Given the description of an element on the screen output the (x, y) to click on. 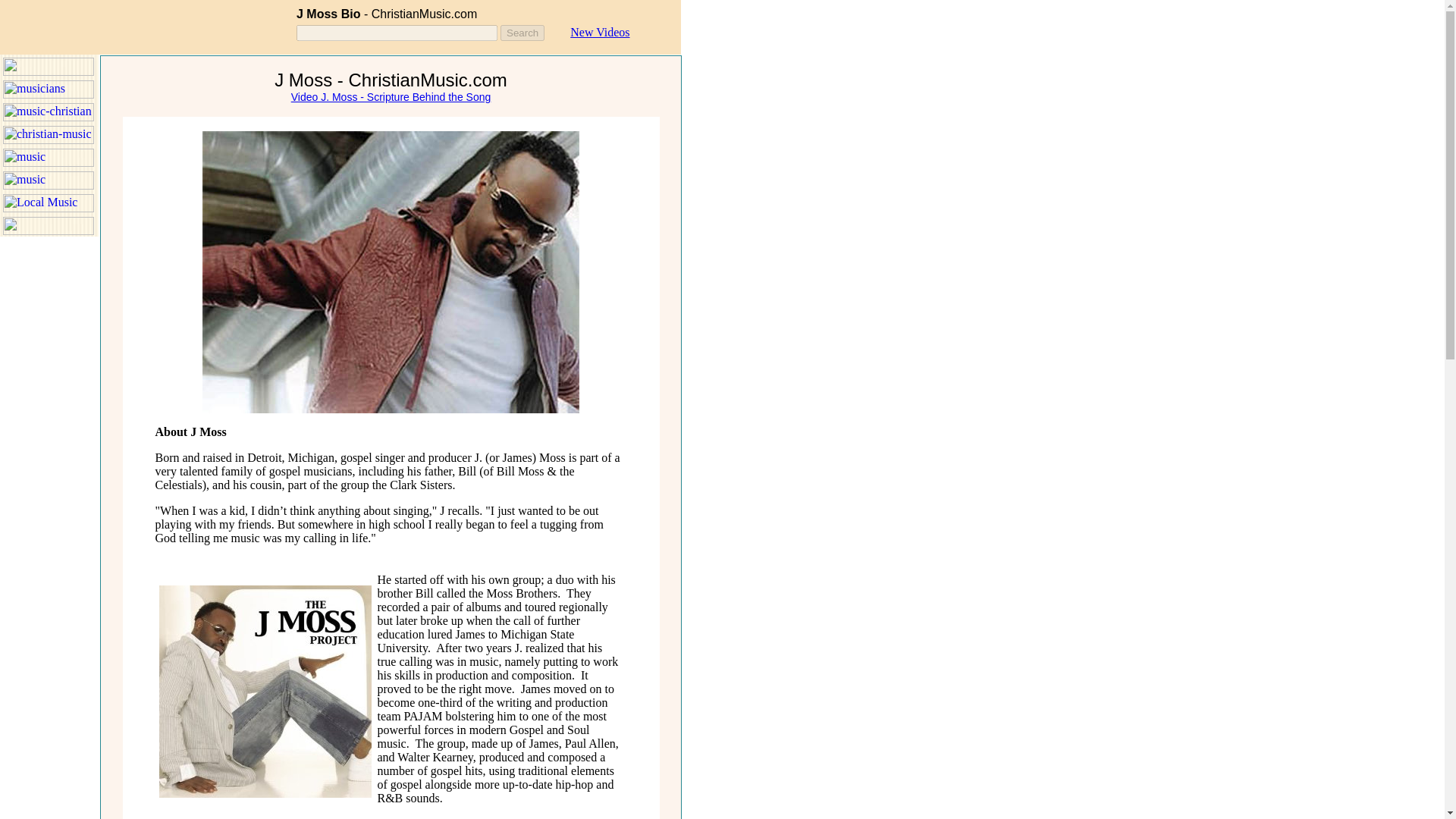
Video J. Moss - Scripture Behind the Song (391, 96)
New Videos (599, 31)
Search (522, 32)
Search (522, 32)
